Given the description of an element on the screen output the (x, y) to click on. 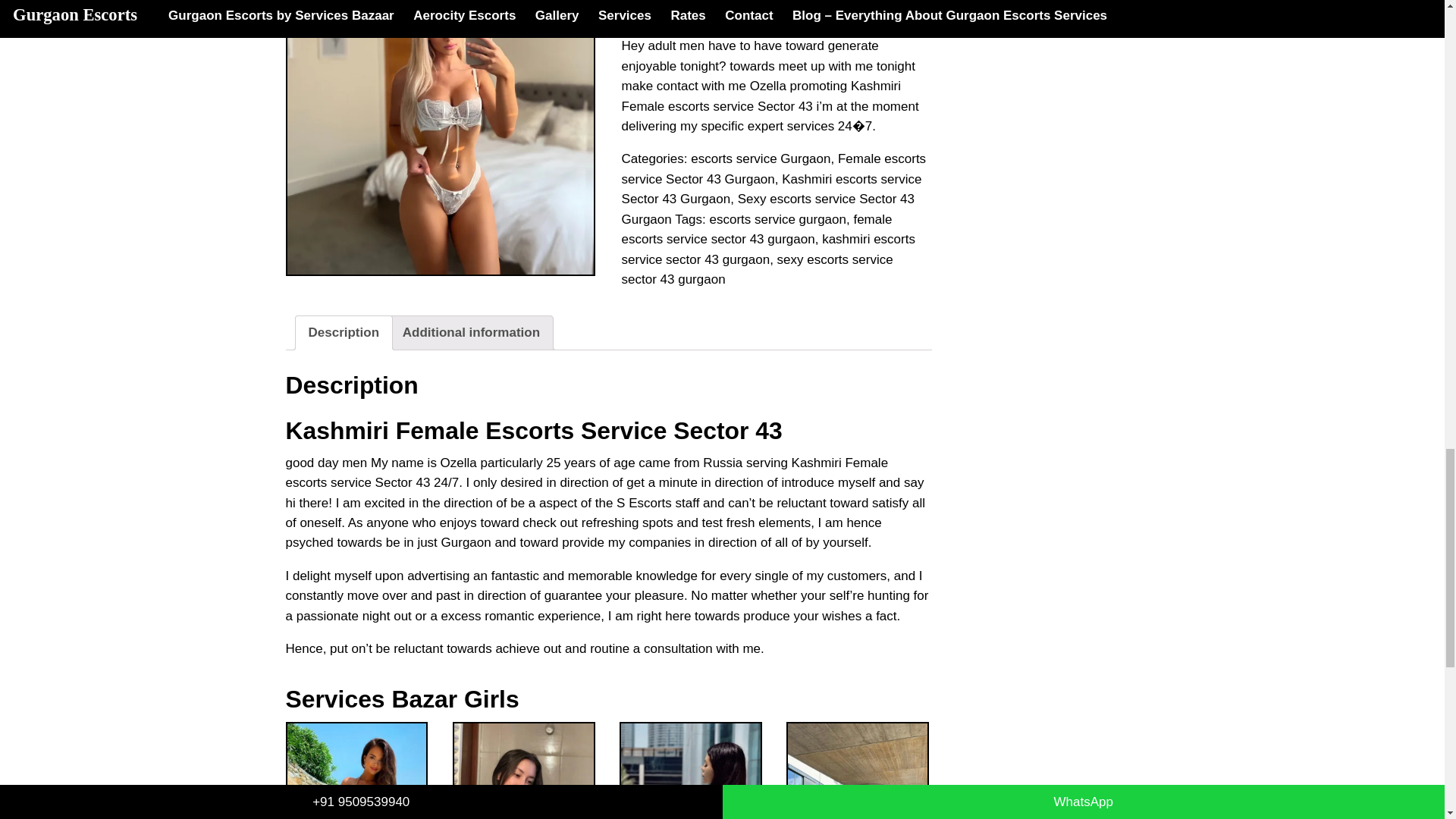
escorts service Gurgaon (759, 158)
ozella (440, 137)
